Given the description of an element on the screen output the (x, y) to click on. 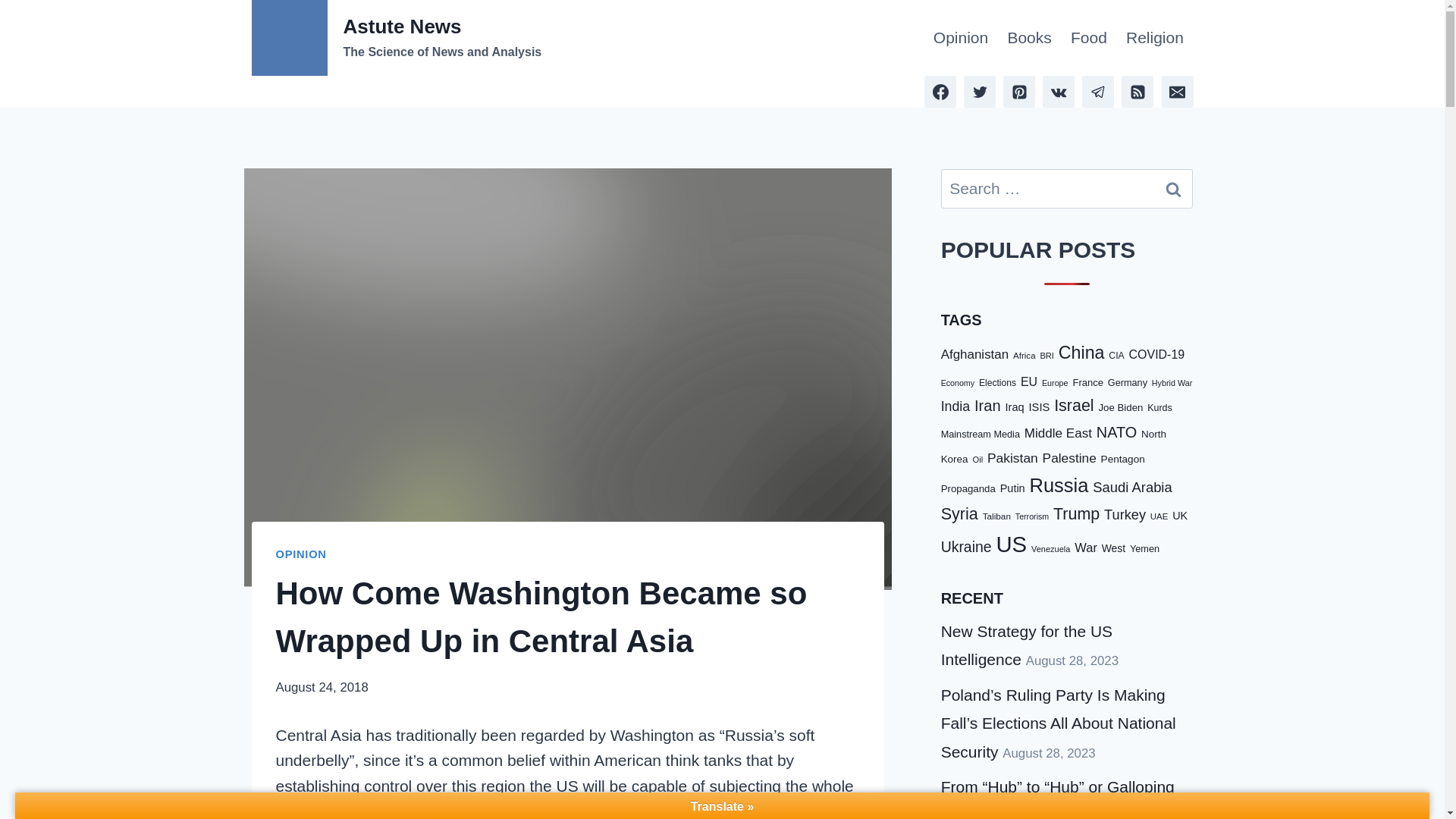
Religion (1154, 37)
Opinion (960, 37)
Books (396, 38)
Search (1029, 37)
Search (1173, 188)
OPINION (1173, 188)
Food (301, 553)
